Given the description of an element on the screen output the (x, y) to click on. 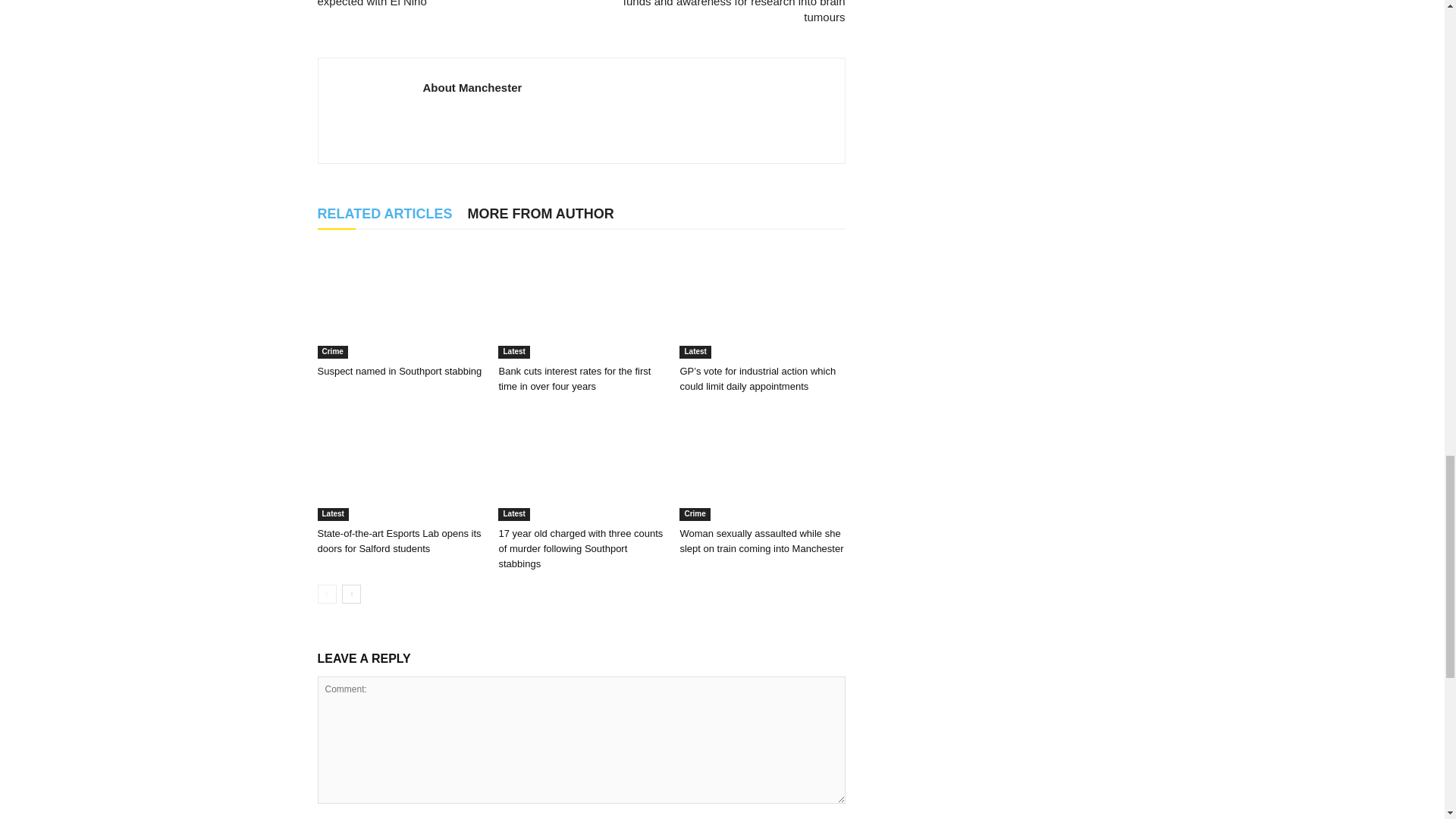
Suspect named in Southport stabbing (399, 301)
Suspect named in Southport stabbing (399, 370)
